Given the description of an element on the screen output the (x, y) to click on. 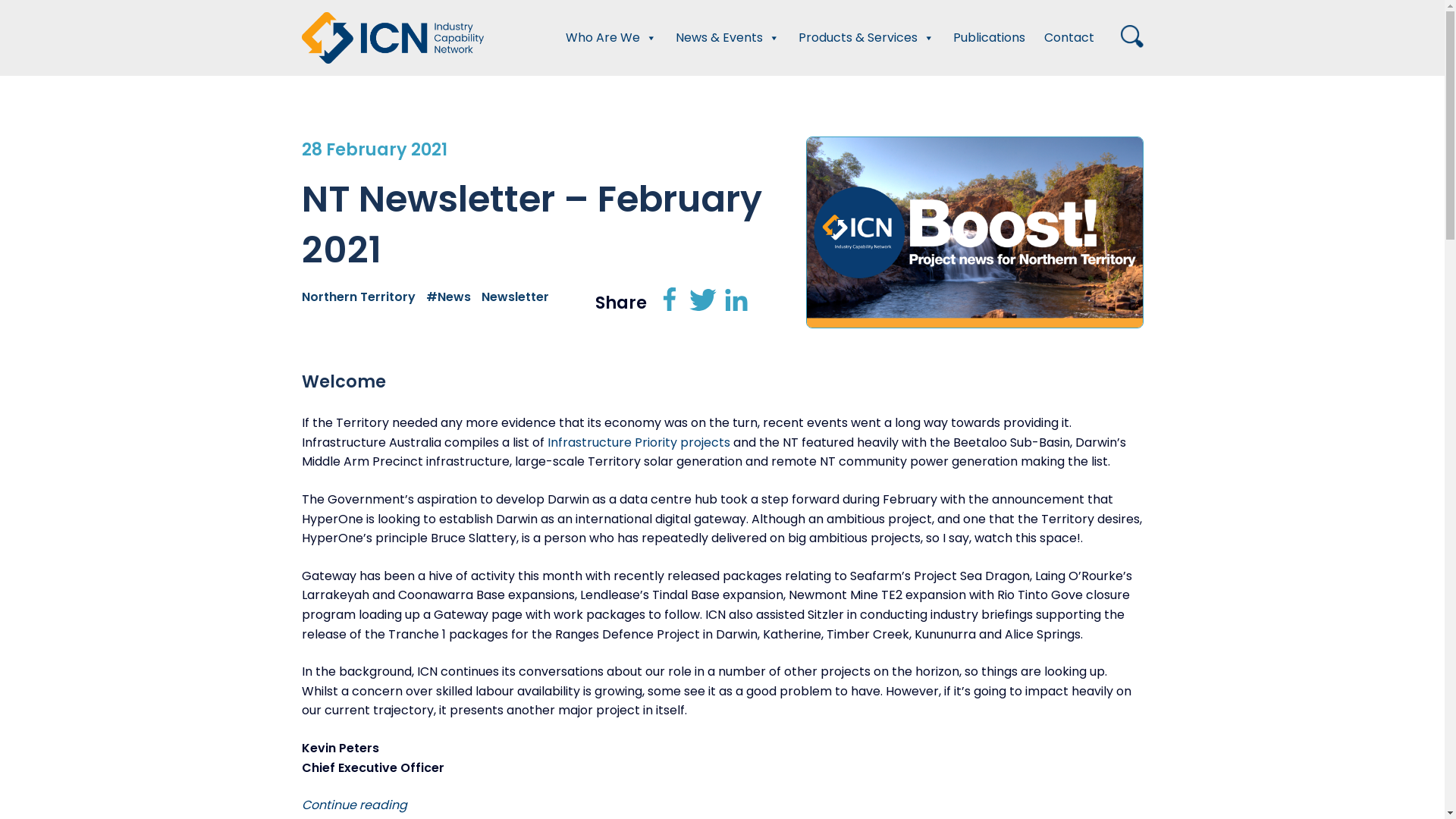
Publications Element type: text (988, 37)
Northern Territory Element type: text (362, 296)
Products & Services Element type: text (865, 37)
News & Events Element type: text (726, 37)
Who Are We Element type: text (611, 37)
Continue reading Element type: text (354, 804)
Newsletter Element type: text (517, 296)
#News Element type: text (452, 296)
Infrastructure Priority projects Element type: text (638, 442)
Contact Element type: text (1068, 37)
